Given the description of an element on the screen output the (x, y) to click on. 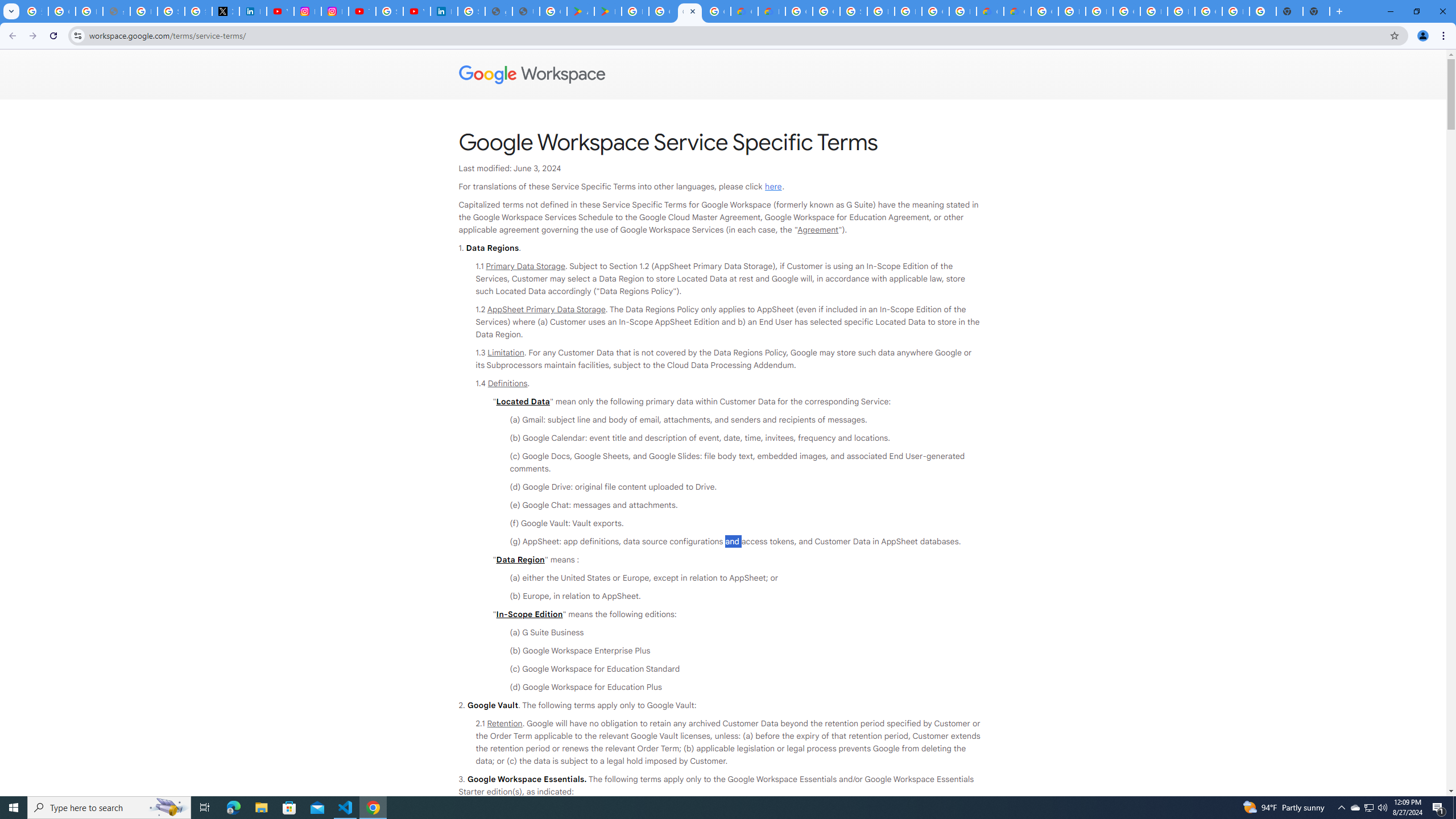
Google Workspace - Specific Terms (716, 11)
Browse Chrome as a guest - Computer - Google Chrome Help (1071, 11)
Google Cloud Platform (1044, 11)
Android Apps on Google Play (580, 11)
Customer Care | Google Cloud (990, 11)
Google Cloud Platform (935, 11)
Google Cloud Estimate Summary (1017, 11)
